Given the description of an element on the screen output the (x, y) to click on. 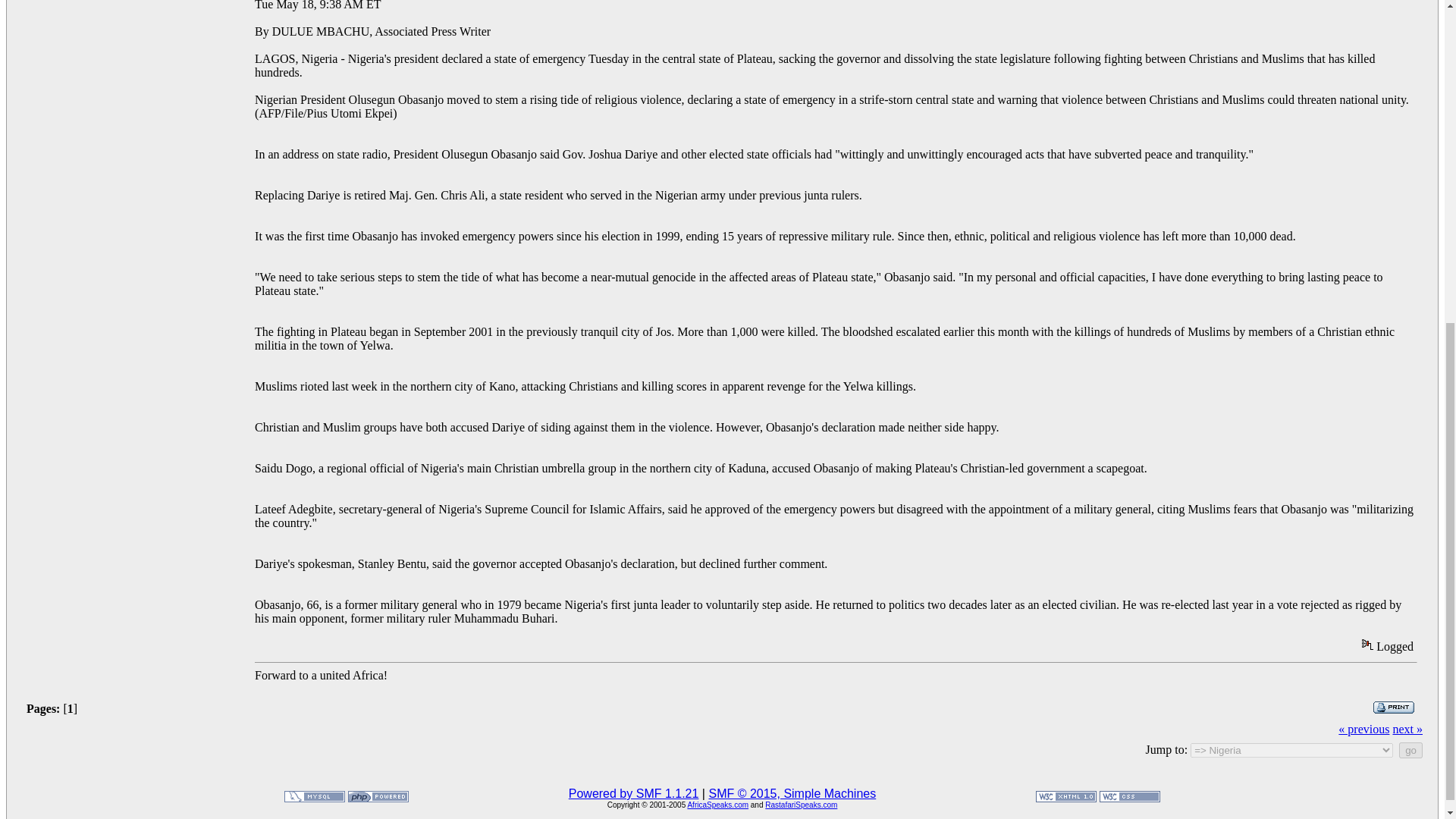
go (1410, 750)
Free Forum Software (791, 793)
Simple Machines Forum (633, 793)
